Given the description of an element on the screen output the (x, y) to click on. 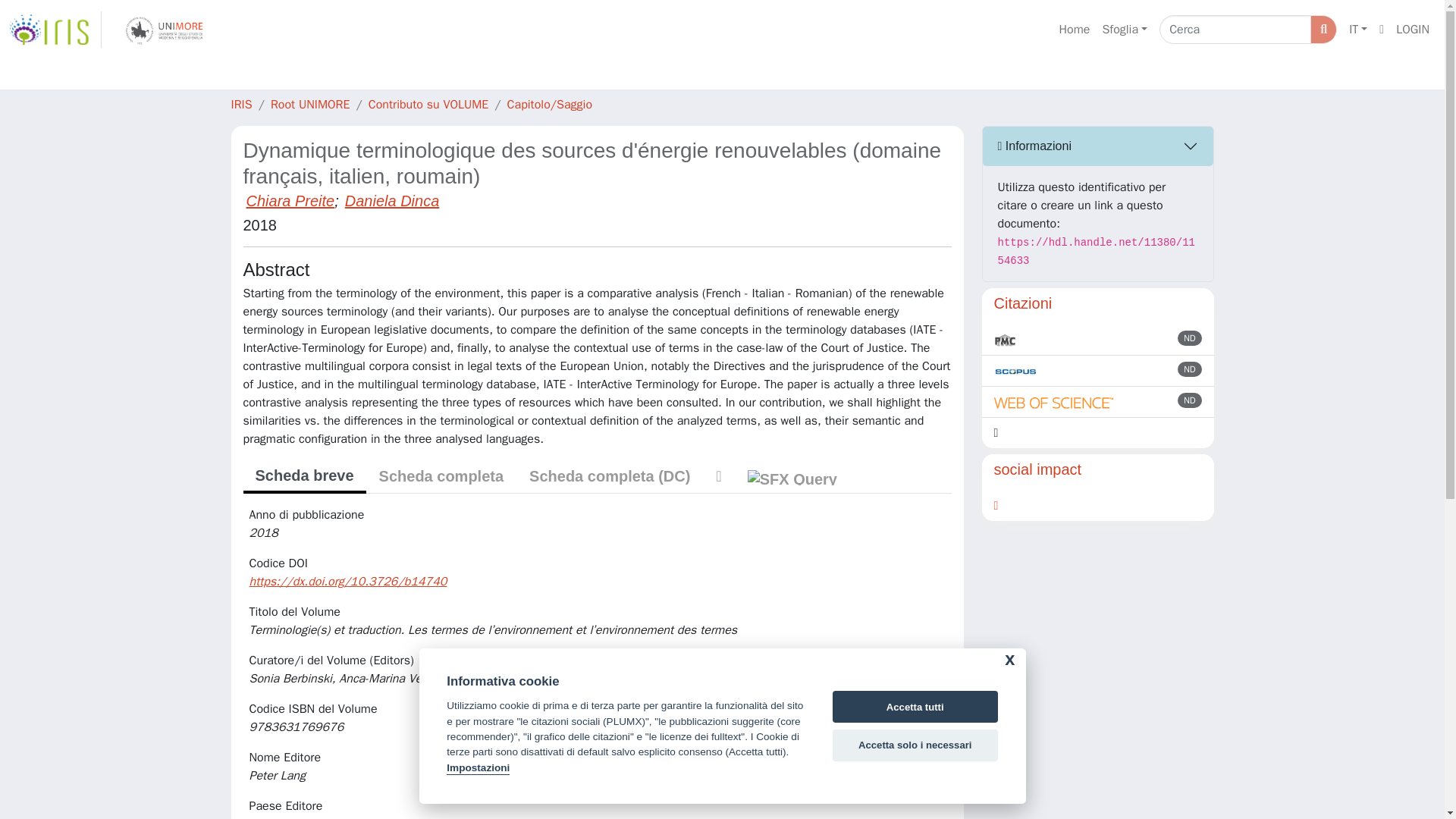
LOGIN (1412, 29)
Chiara Preite (290, 200)
Scheda breve (304, 476)
IRIS (240, 104)
Accetta tutti (914, 706)
Home (1074, 29)
Impostazioni (477, 768)
Scheda completa (441, 476)
Root UNIMORE (310, 104)
Aiuto (1381, 29)
Sfoglia (1124, 29)
Accetta solo i necessari (914, 745)
IT (1357, 29)
Daniela Dinca (392, 200)
Contributo su VOLUME (428, 104)
